Given the description of an element on the screen output the (x, y) to click on. 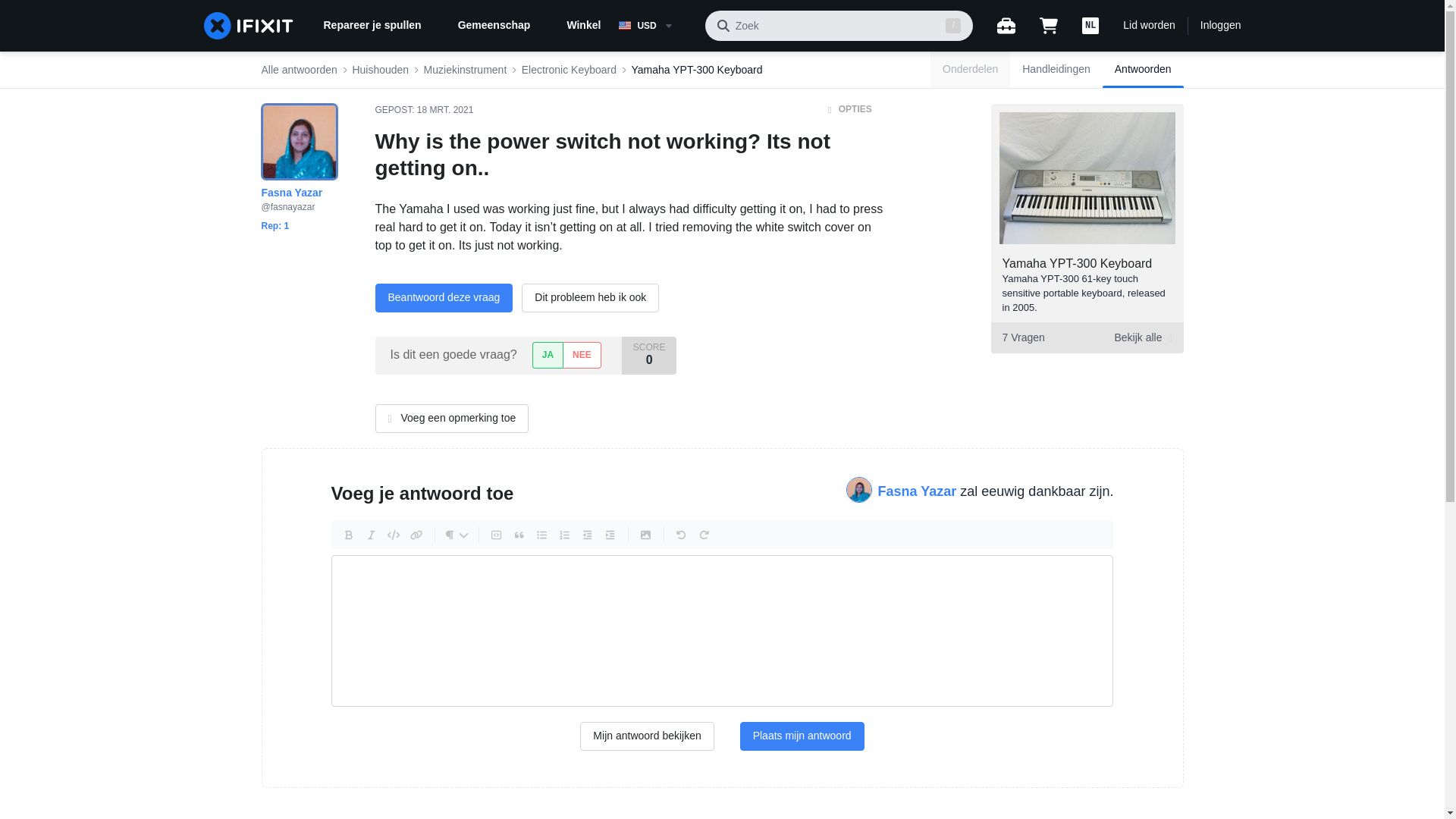
Lid worden (1148, 25)
JA (547, 355)
Handleidingen (1056, 69)
Alle antwoorden (298, 69)
Dit probleem heb ik ook (590, 297)
GEPOST: 18 MRT. 2021 (423, 109)
Yamaha YPT-300 Keyboard (1078, 263)
Beantwoord deze vraag (443, 297)
Muziekinstrument (464, 69)
Electronic Keyboard (568, 69)
